Given the description of an element on the screen output the (x, y) to click on. 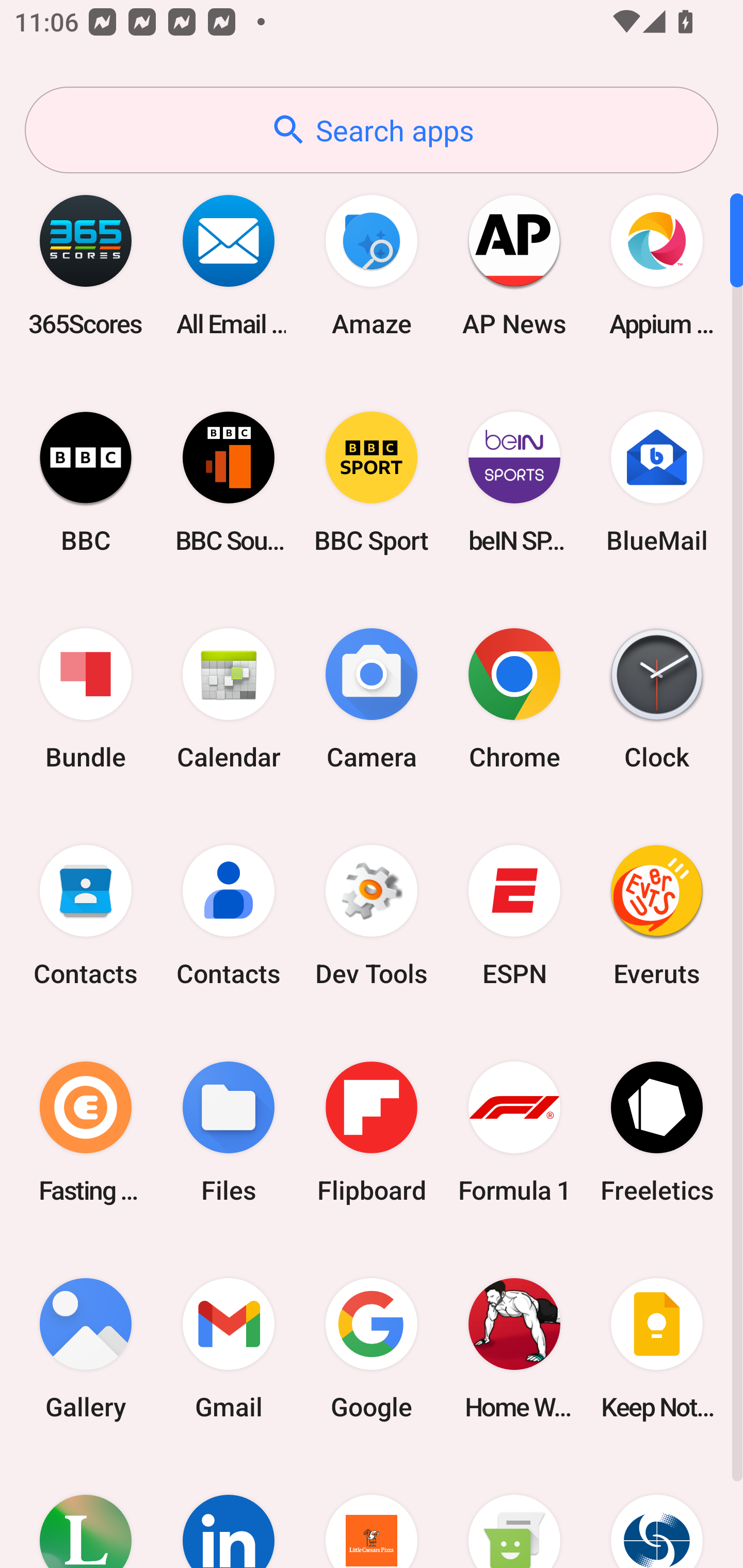
  Search apps (371, 130)
365Scores (85, 264)
All Email Connect (228, 264)
Amaze (371, 264)
AP News (514, 264)
Appium Settings (656, 264)
BBC (85, 482)
BBC Sounds (228, 482)
BBC Sport (371, 482)
beIN SPORTS (514, 482)
BlueMail (656, 482)
Bundle (85, 699)
Calendar (228, 699)
Camera (371, 699)
Chrome (514, 699)
Clock (656, 699)
Contacts (85, 915)
Contacts (228, 915)
Dev Tools (371, 915)
ESPN (514, 915)
Everuts (656, 915)
Fasting Coach (85, 1131)
Files (228, 1131)
Flipboard (371, 1131)
Formula 1 (514, 1131)
Freeletics (656, 1131)
Gallery (85, 1348)
Gmail (228, 1348)
Google (371, 1348)
Home Workout (514, 1348)
Keep Notes (656, 1348)
Lifesum (85, 1512)
LinkedIn (228, 1512)
Little Caesars Pizza (371, 1512)
Messaging (514, 1512)
MyObservatory (656, 1512)
